Given the description of an element on the screen output the (x, y) to click on. 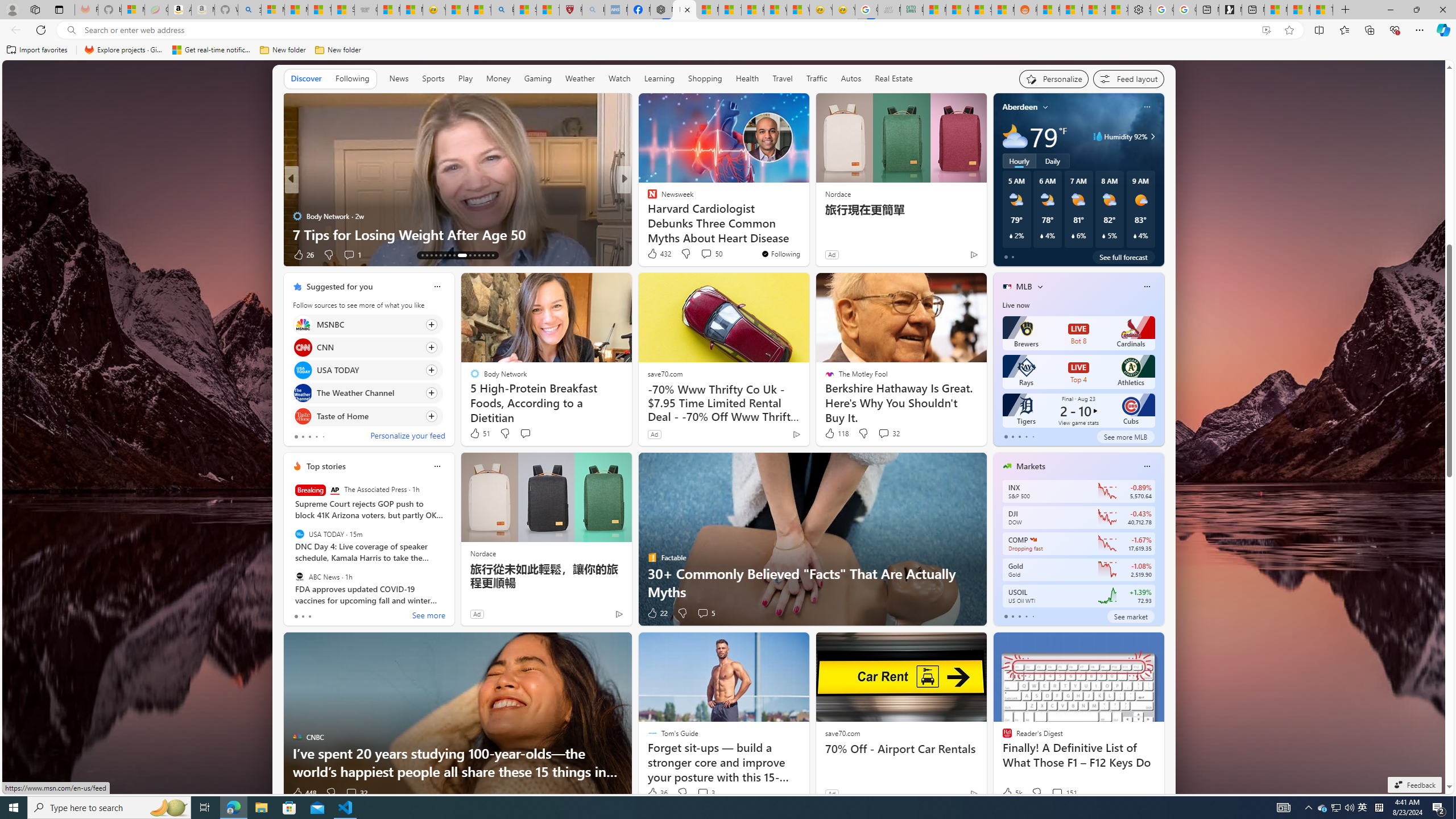
View comments 14 Comment (703, 254)
Navy Quest (889, 9)
Class: weather-arrow-glyph (1152, 136)
Dislike (1036, 792)
Learning (659, 79)
Click to follow source CNN (367, 347)
Personalize your feed (407, 436)
Following (352, 79)
